Given the description of an element on the screen output the (x, y) to click on. 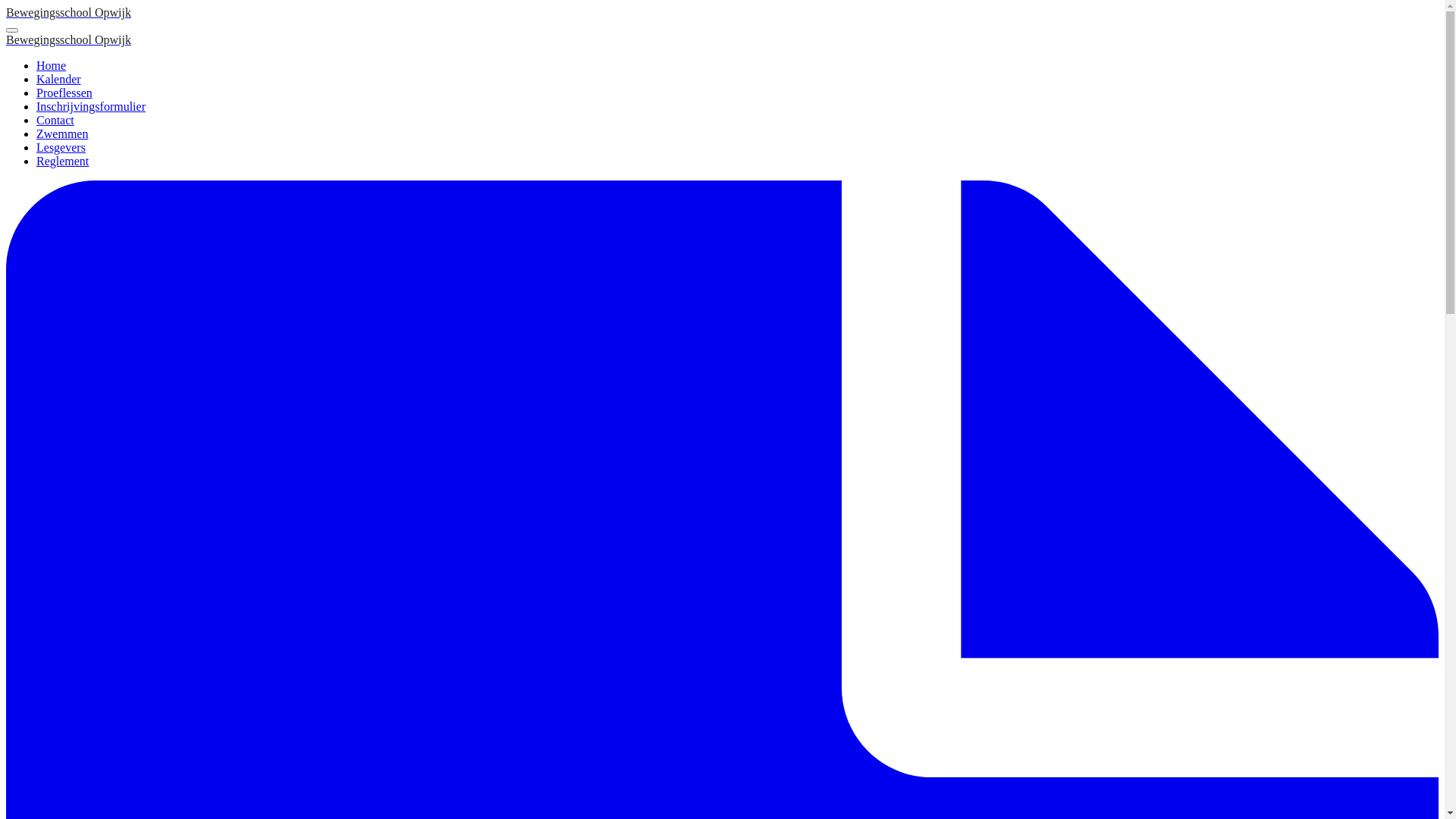
Bewegingsschool Opwijk Element type: text (68, 39)
Home Element type: text (50, 65)
Bewegingsschool Opwijk Element type: text (68, 12)
Contact Element type: text (55, 119)
Lesgevers Element type: text (60, 147)
Reglement Element type: text (62, 160)
Kalender Element type: text (58, 78)
Zwemmen Element type: text (61, 133)
Inschrijvingsformulier Element type: text (90, 106)
Proeflessen Element type: text (64, 92)
